Given the description of an element on the screen output the (x, y) to click on. 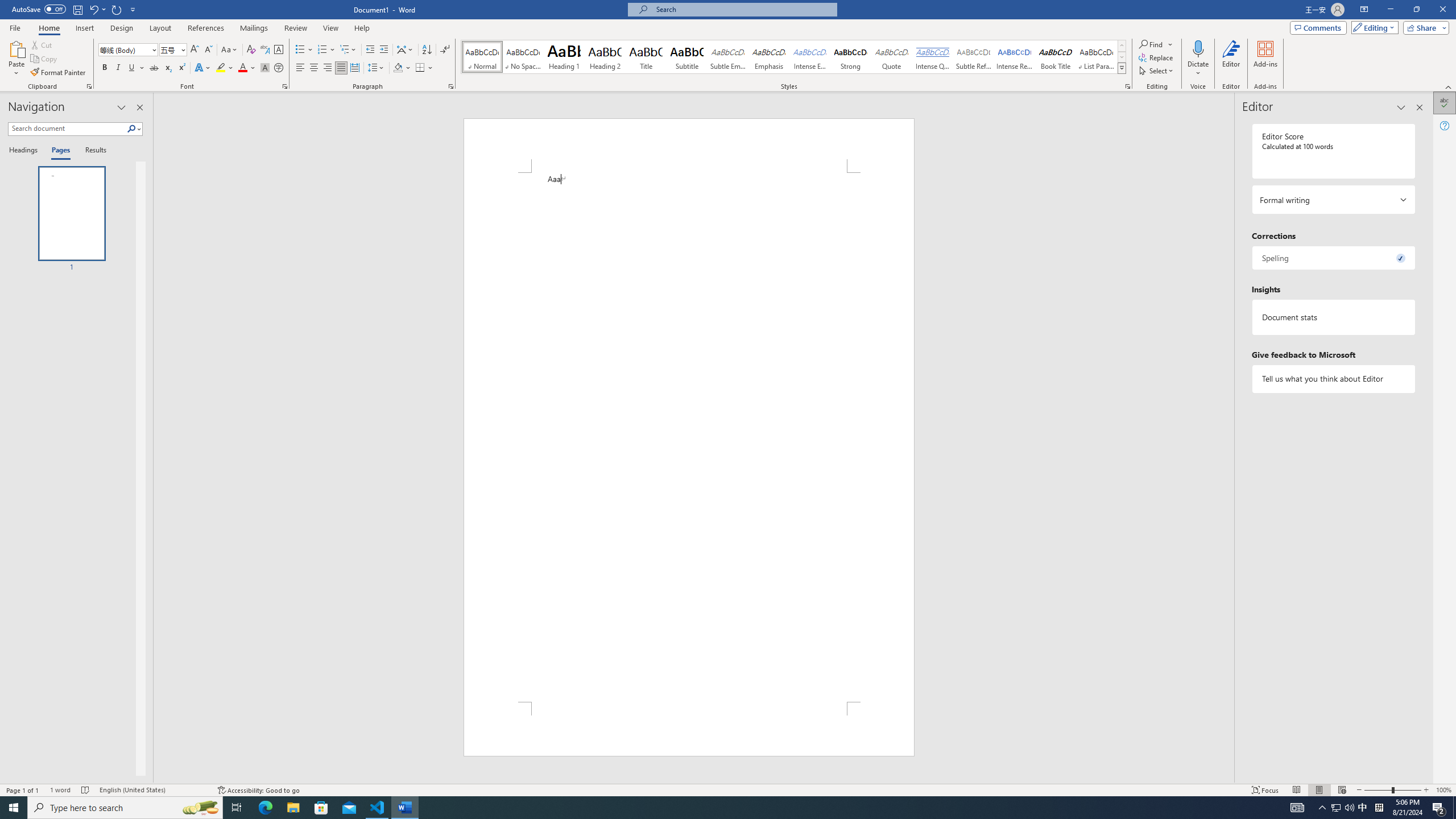
Subtitle (686, 56)
Zoom In (1426, 790)
Spelling, 0 issues. Press space or enter to review items. (1333, 257)
Heading 1 (564, 56)
Print Layout (1318, 790)
Bullets (304, 49)
Font Size (169, 49)
Intense Emphasis (809, 56)
